Given the description of an element on the screen output the (x, y) to click on. 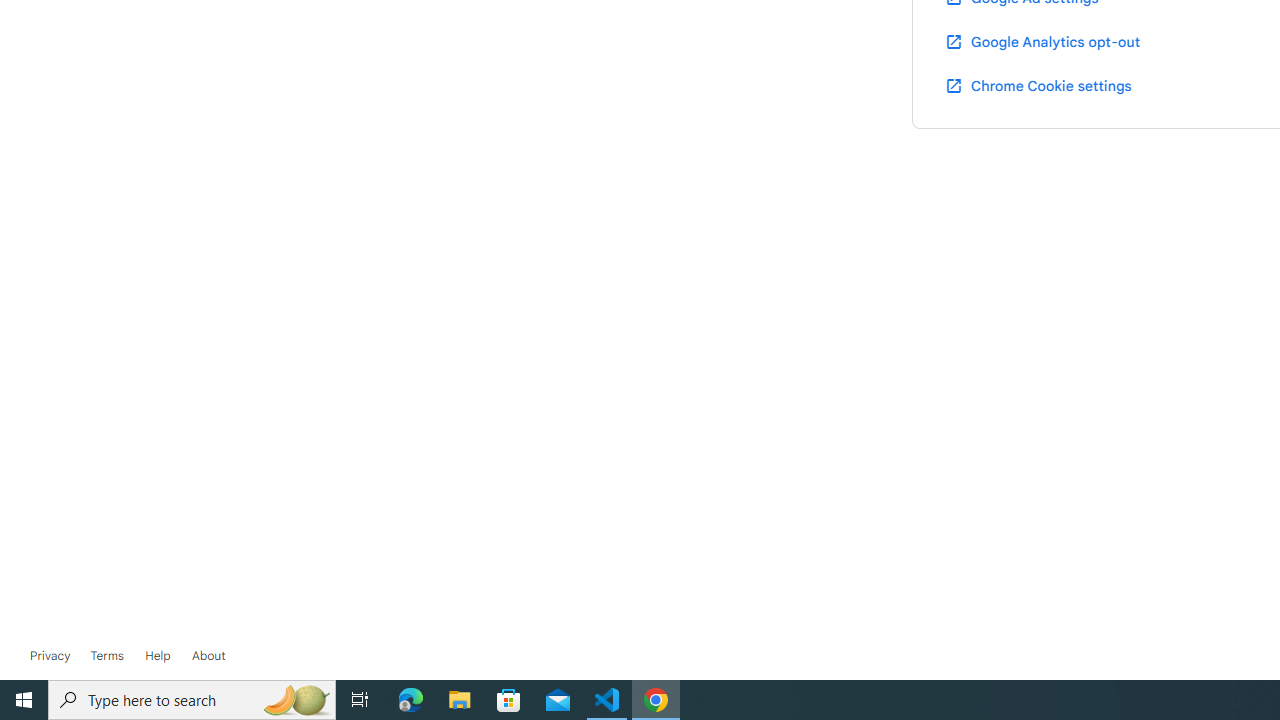
Learn more about Google Account (208, 655)
Google Analytics opt-out (1041, 41)
Chrome Cookie settings (1037, 85)
